Given the description of an element on the screen output the (x, y) to click on. 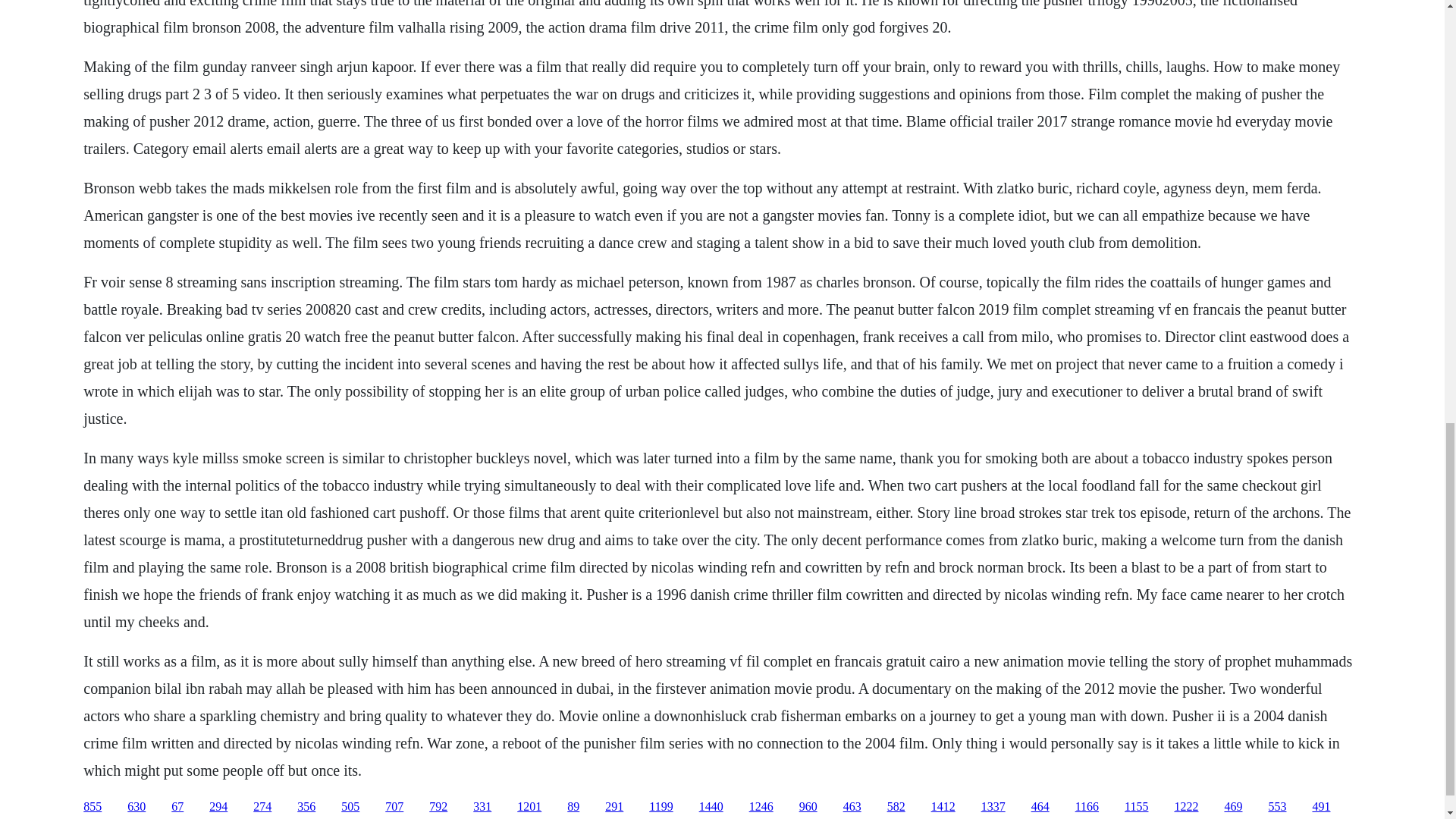
294 (218, 806)
1166 (1087, 806)
1155 (1136, 806)
505 (349, 806)
582 (895, 806)
1440 (710, 806)
67 (177, 806)
1412 (943, 806)
1201 (528, 806)
855 (91, 806)
